Given the description of an element on the screen output the (x, y) to click on. 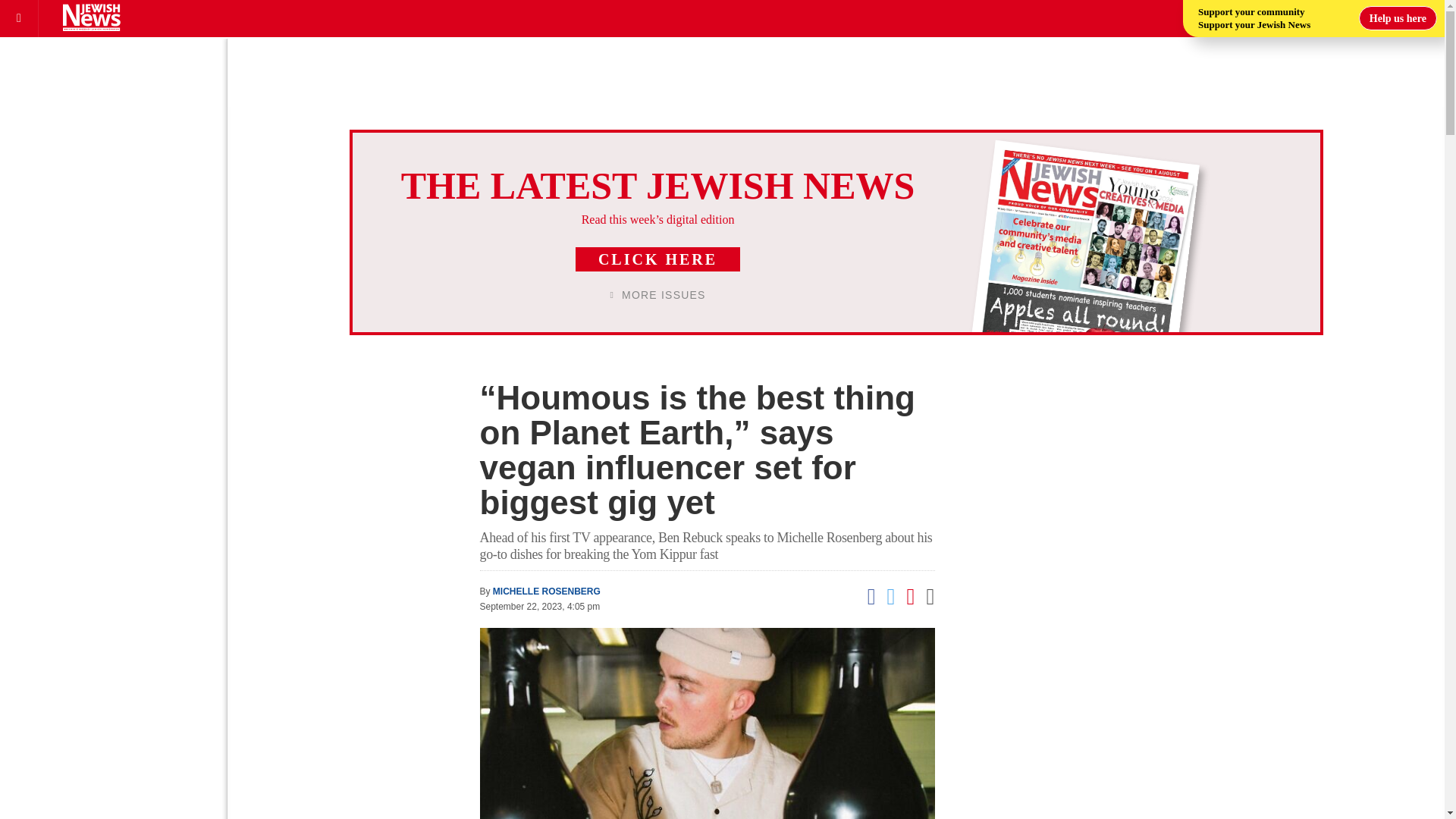
Michelle Rosenberg (546, 591)
CLICK HERE (657, 259)
Pic: Ben Rebuck (706, 723)
MORE ISSUES (658, 295)
JN 1376 front cover (1066, 269)
MICHELLE ROSENBERG (546, 591)
Help us here (1397, 17)
